Given the description of an element on the screen output the (x, y) to click on. 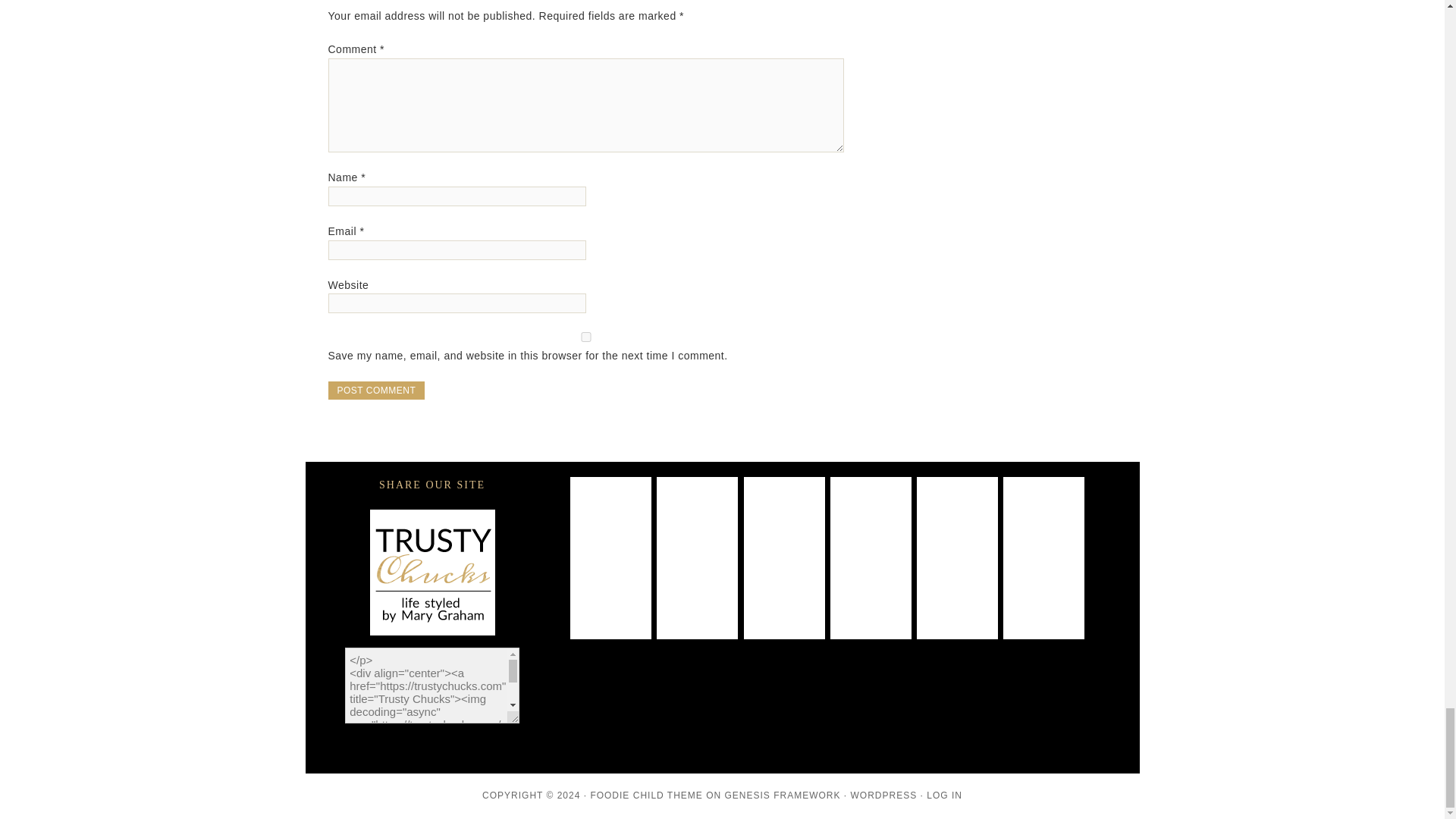
2022 Travel Highlights (697, 598)
Post Comment (376, 390)
2024 Book Club List (870, 517)
Favorite Books of 2022 (784, 598)
Writing about the dead (697, 517)
Post Comment (376, 390)
yes (585, 337)
Trusty Chucks (431, 572)
humble, quiet, and meek (1043, 517)
paint colors, for now (610, 517)
